Given the description of an element on the screen output the (x, y) to click on. 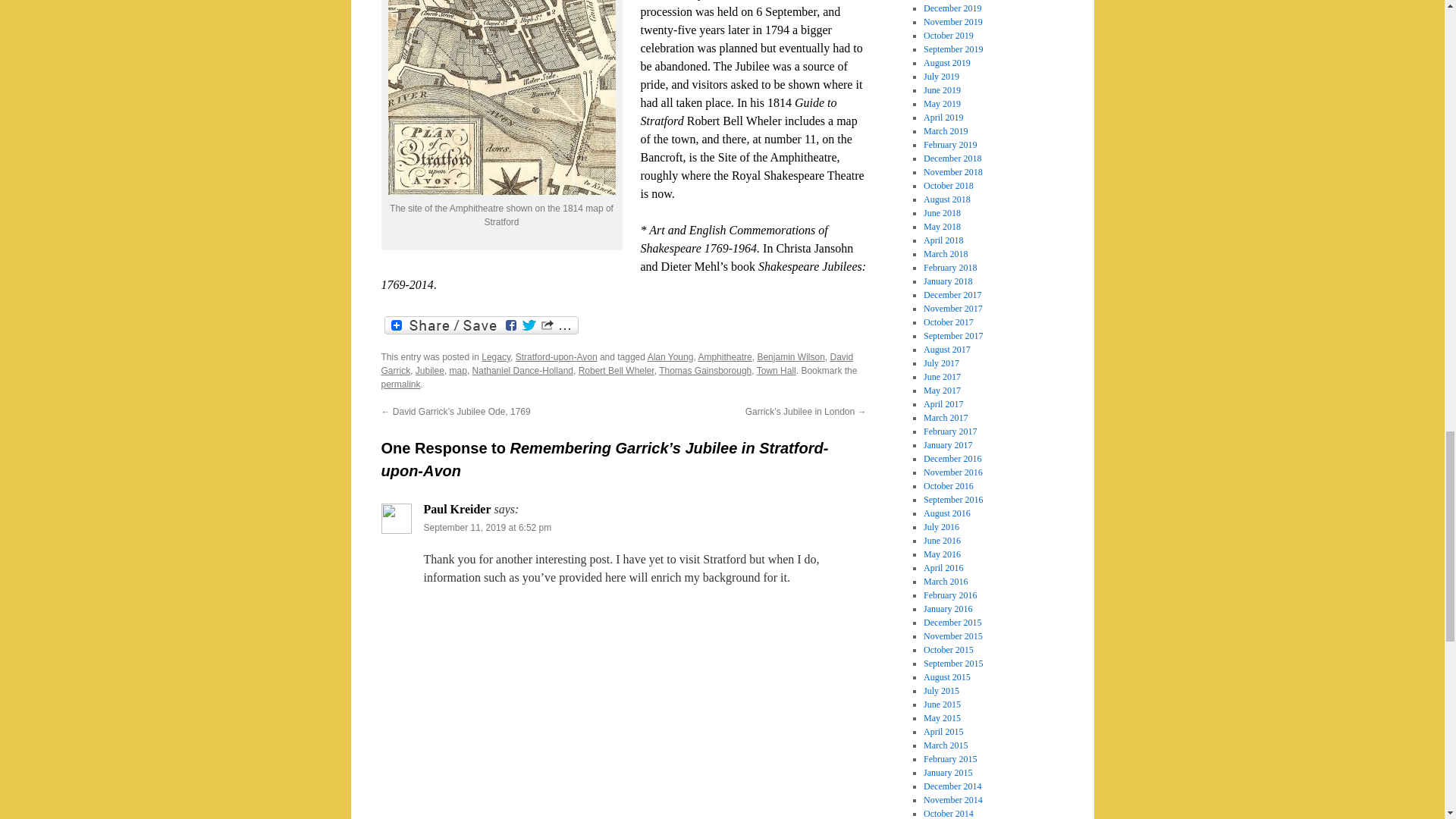
permalink (400, 384)
Benjamin Wilson (790, 357)
David Garrick (616, 363)
Nathaniel Dance-Holland (522, 370)
map (458, 370)
Jubilee (429, 370)
Stratford-upon-Avon (555, 357)
Amphitheatre (724, 357)
Robert Bell Wheler (615, 370)
Legacy (496, 357)
September 11, 2019 at 6:52 pm (487, 527)
Thomas Gainsborough (705, 370)
Town Hall (776, 370)
Alan Young (670, 357)
